Given the description of an element on the screen output the (x, y) to click on. 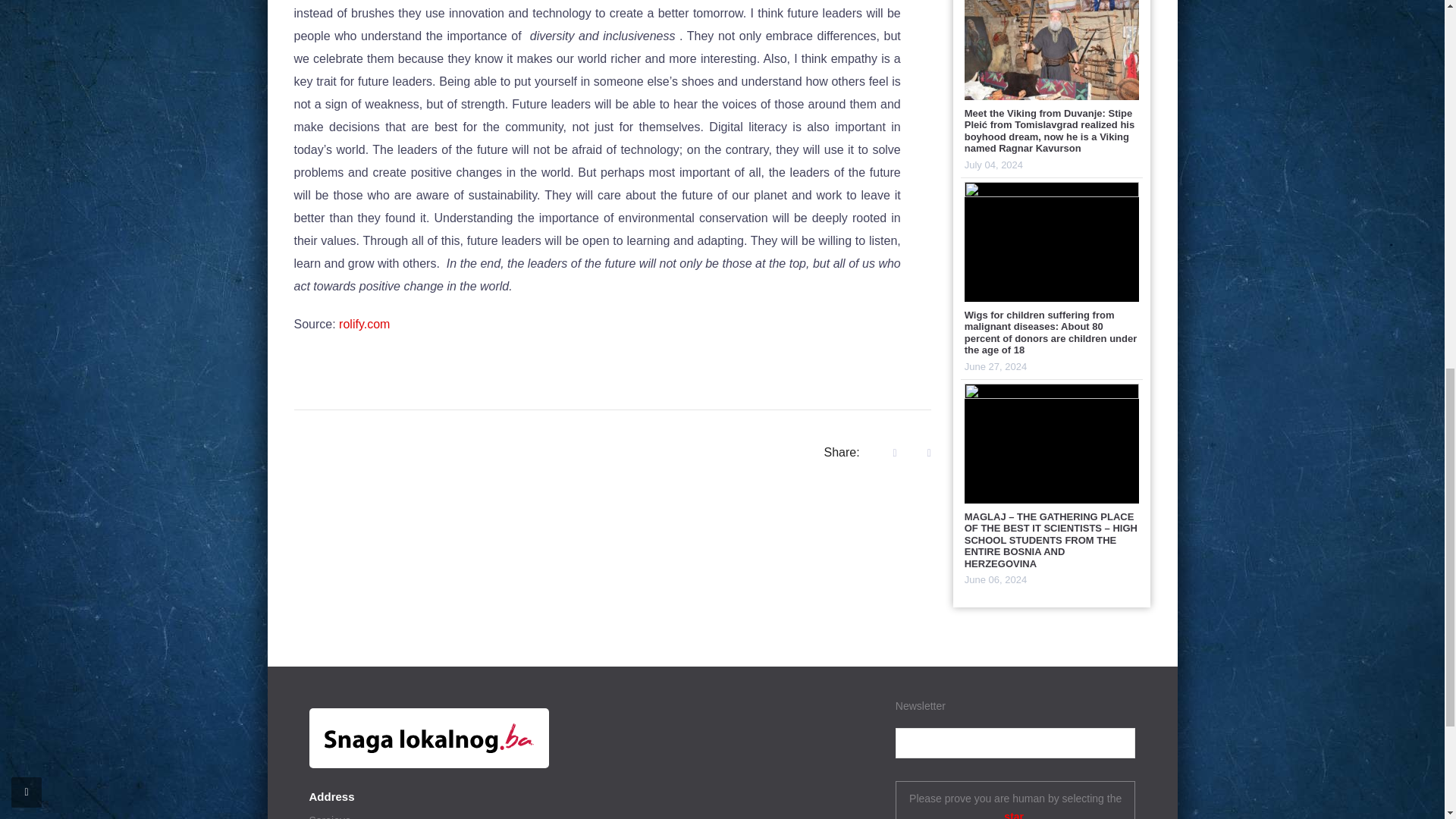
rolify.com (364, 323)
